Given the description of an element on the screen output the (x, y) to click on. 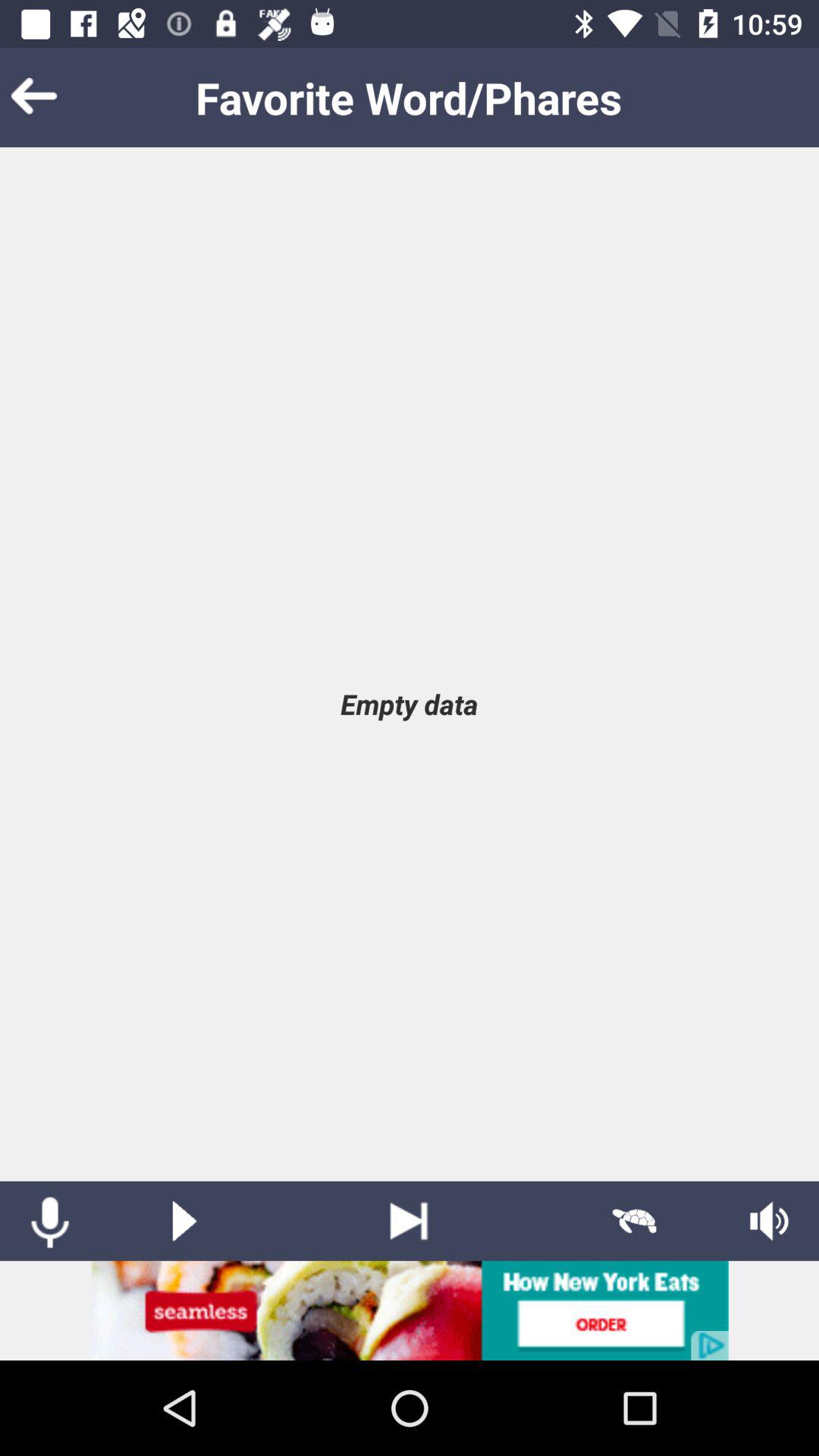
advertisement banner (409, 1310)
